Given the description of an element on the screen output the (x, y) to click on. 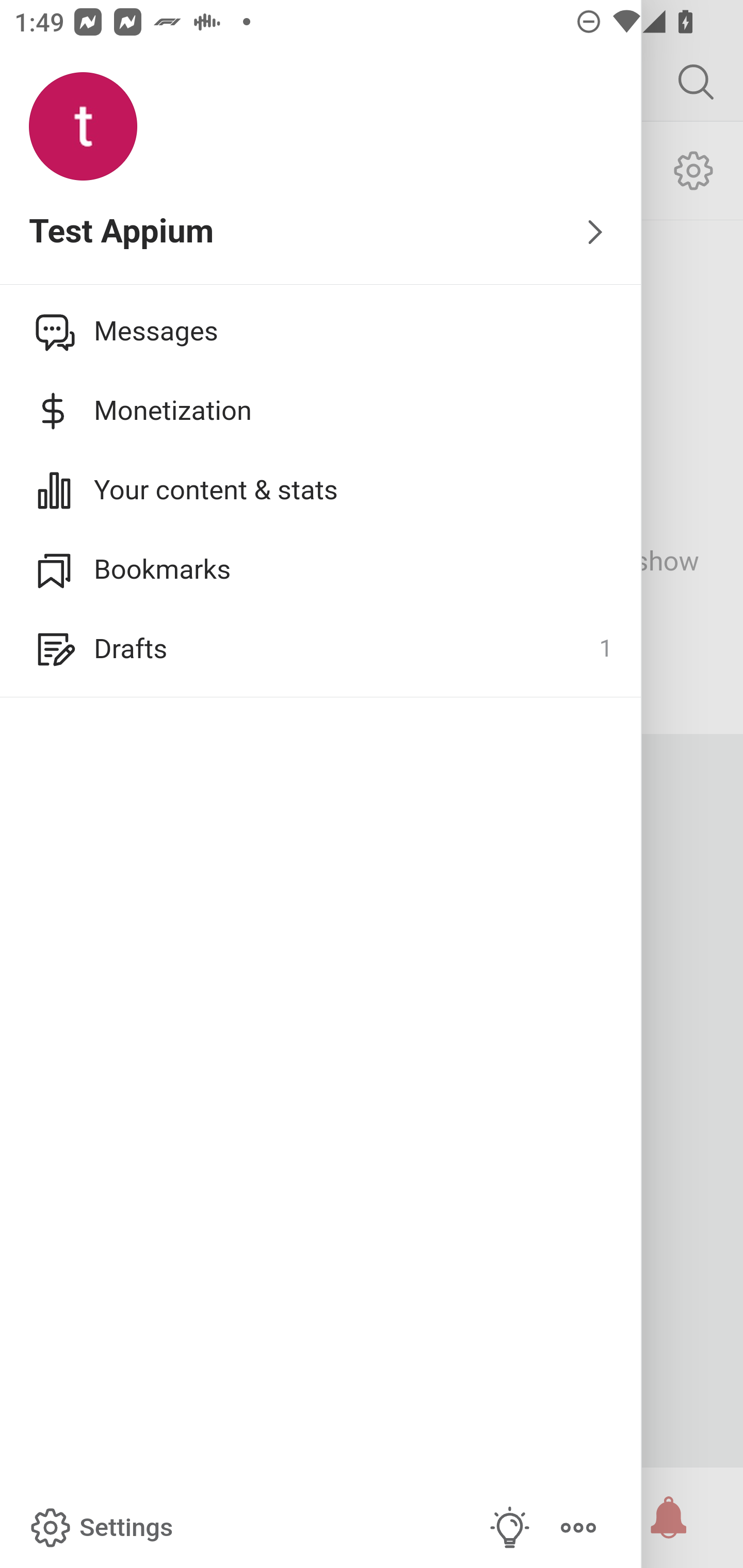
Profile photo for Test Appium (82, 126)
Test Appium (321, 232)
Messages (321, 330)
Monetization (321, 410)
Your content & stats (321, 489)
Bookmarks (321, 568)
Drafts 1 Drafts 1 (321, 648)
1 (605, 648)
Settings (99, 1527)
More (578, 1527)
